Given the description of an element on the screen output the (x, y) to click on. 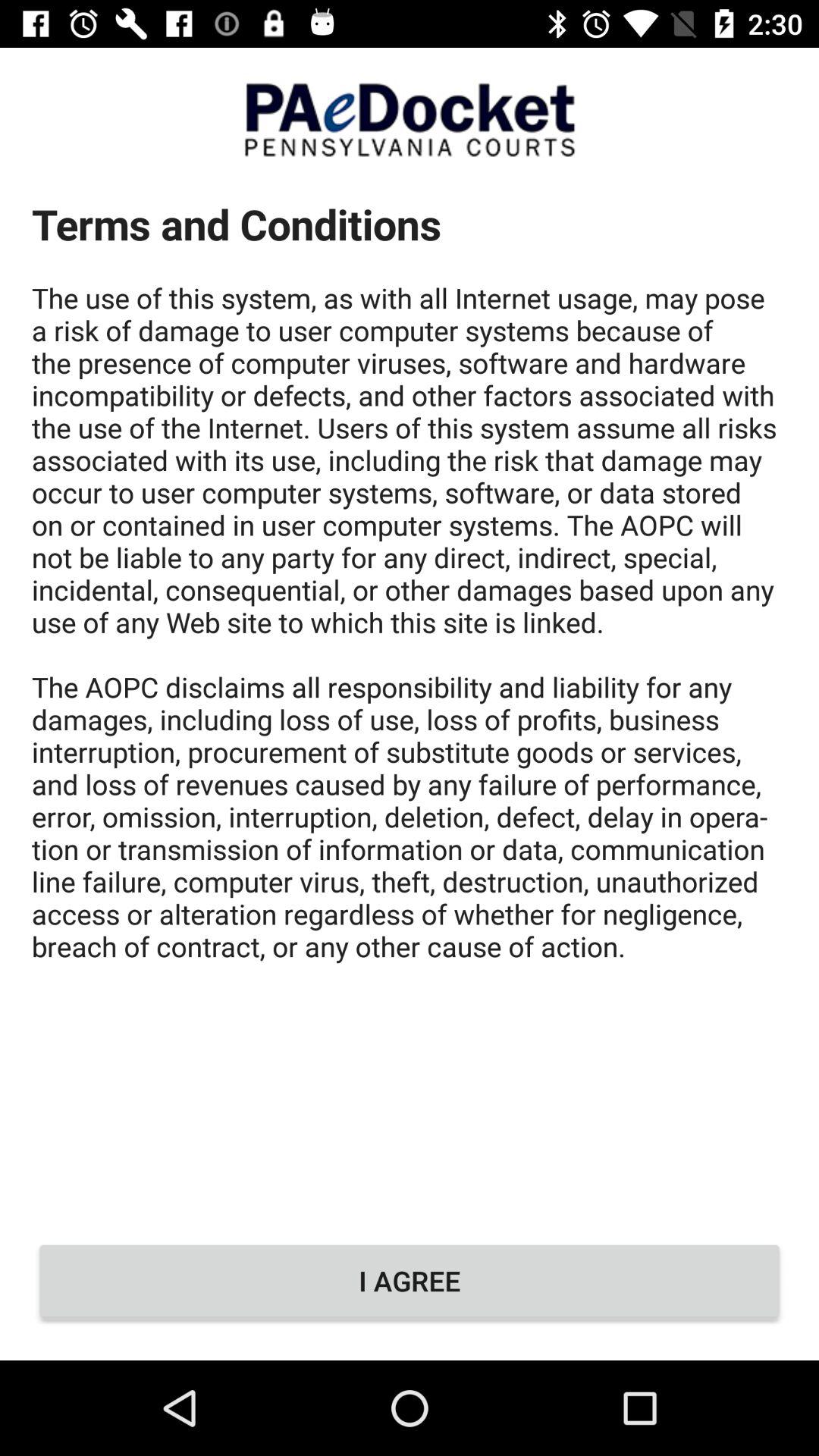
swipe to the terms and conditions icon (409, 696)
